Given the description of an element on the screen output the (x, y) to click on. 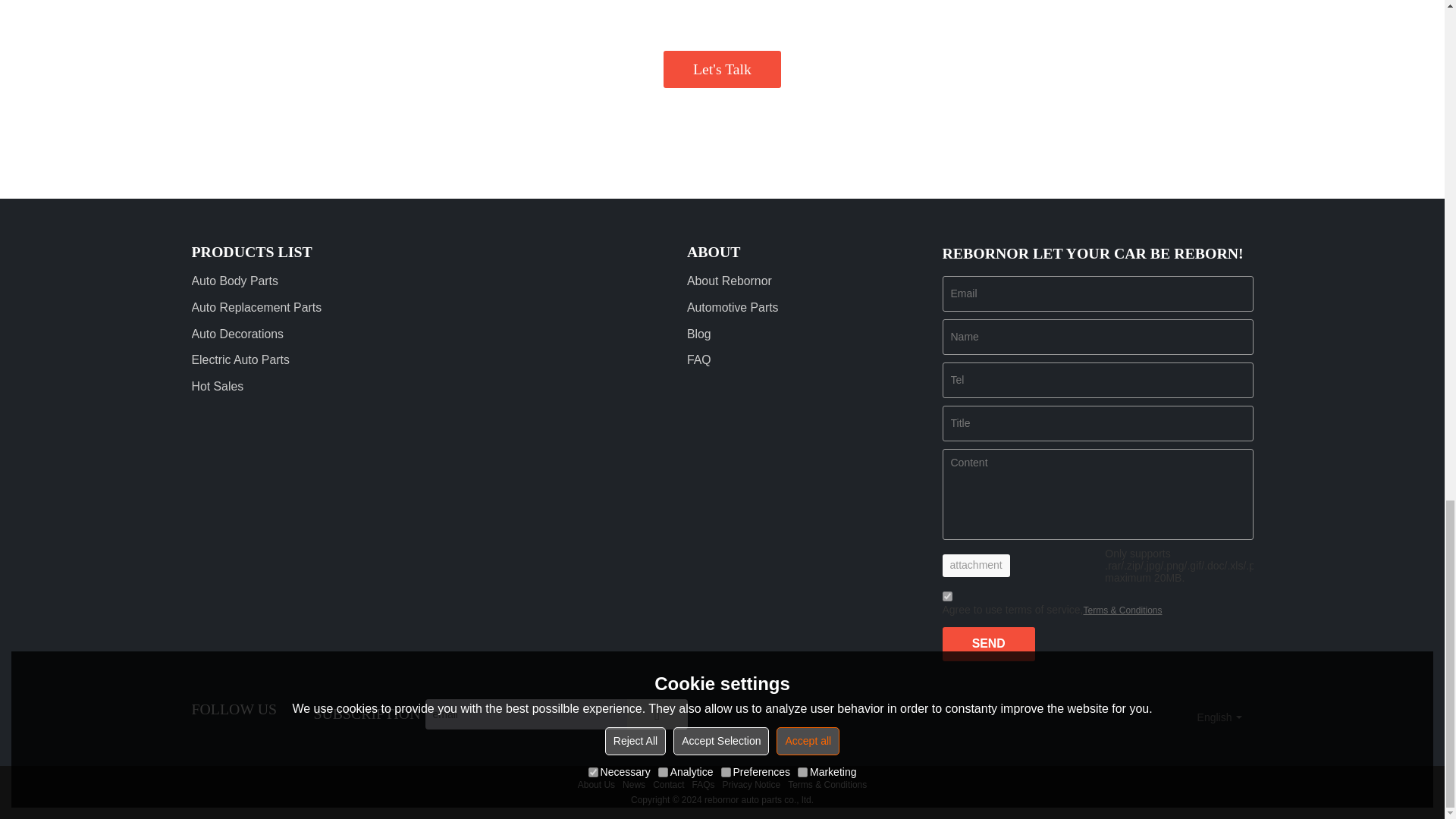
on (947, 596)
